Given the description of an element on the screen output the (x, y) to click on. 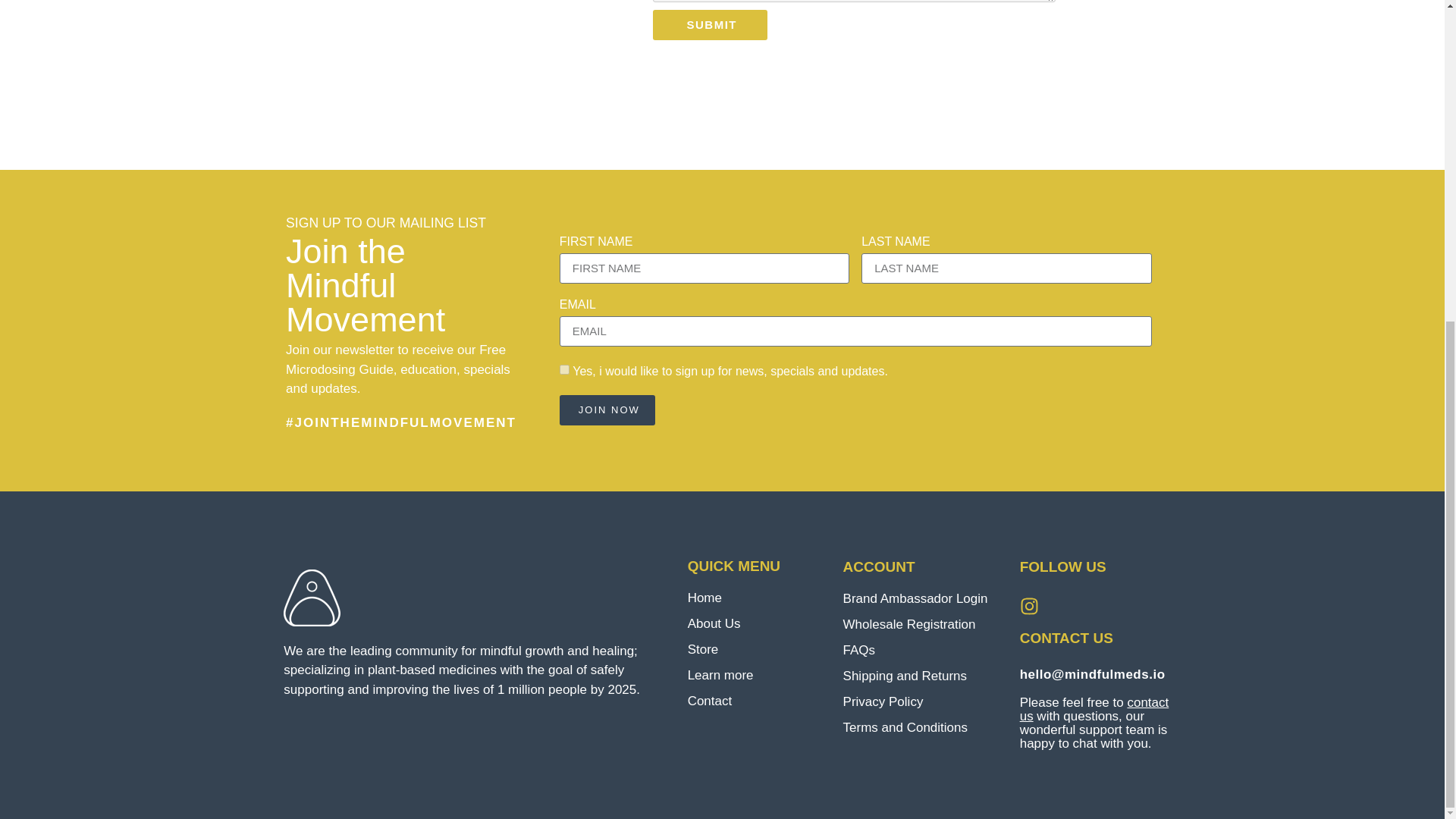
Learn more (758, 675)
Contact (758, 701)
Home (758, 597)
Yes, i would like to sign up for news, specials and updates. (564, 369)
JOIN NOW (607, 409)
SUBMIT (709, 24)
About Us (758, 623)
Store (758, 649)
